Given the description of an element on the screen output the (x, y) to click on. 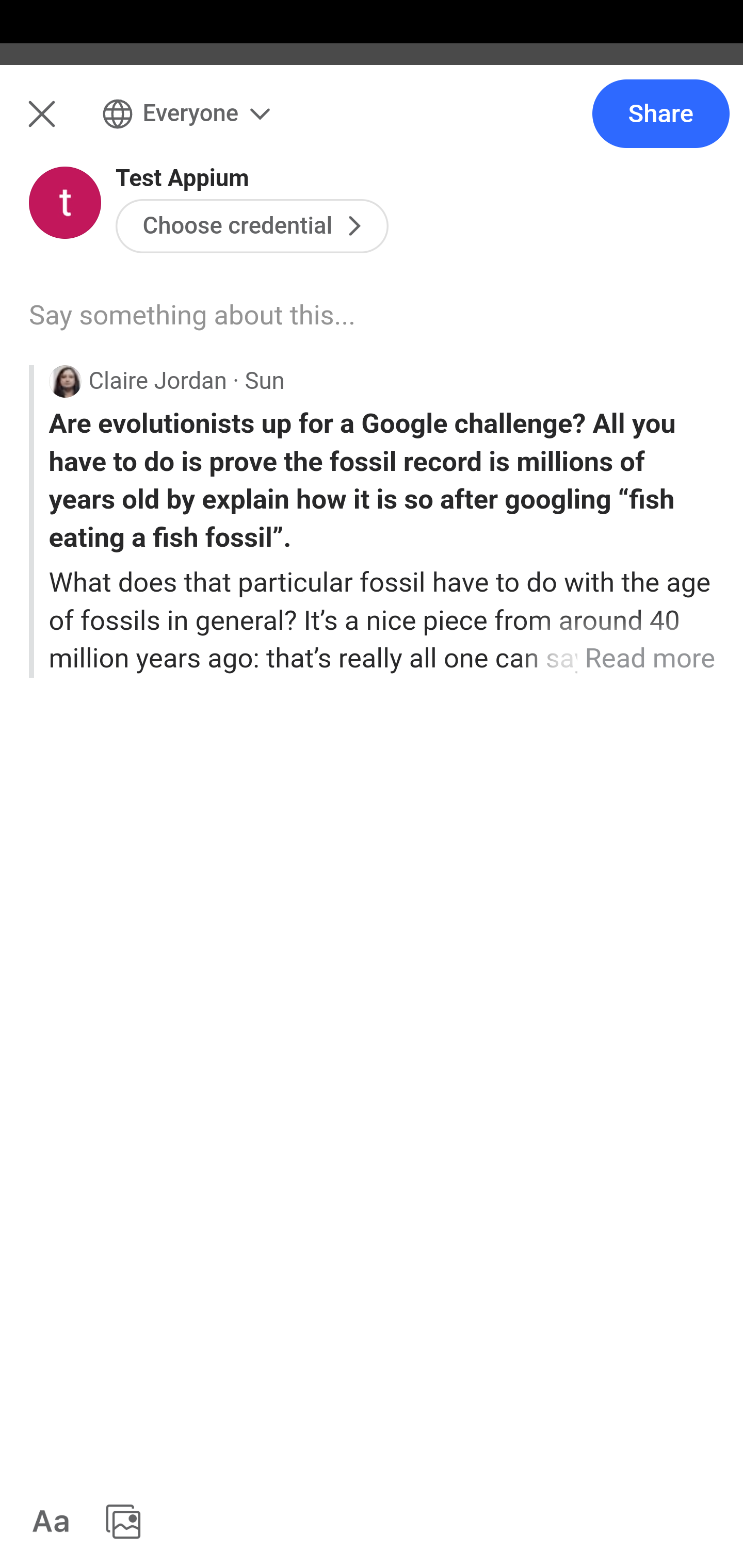
Me Home Search Add (371, 125)
Me (64, 125)
